Given the description of an element on the screen output the (x, y) to click on. 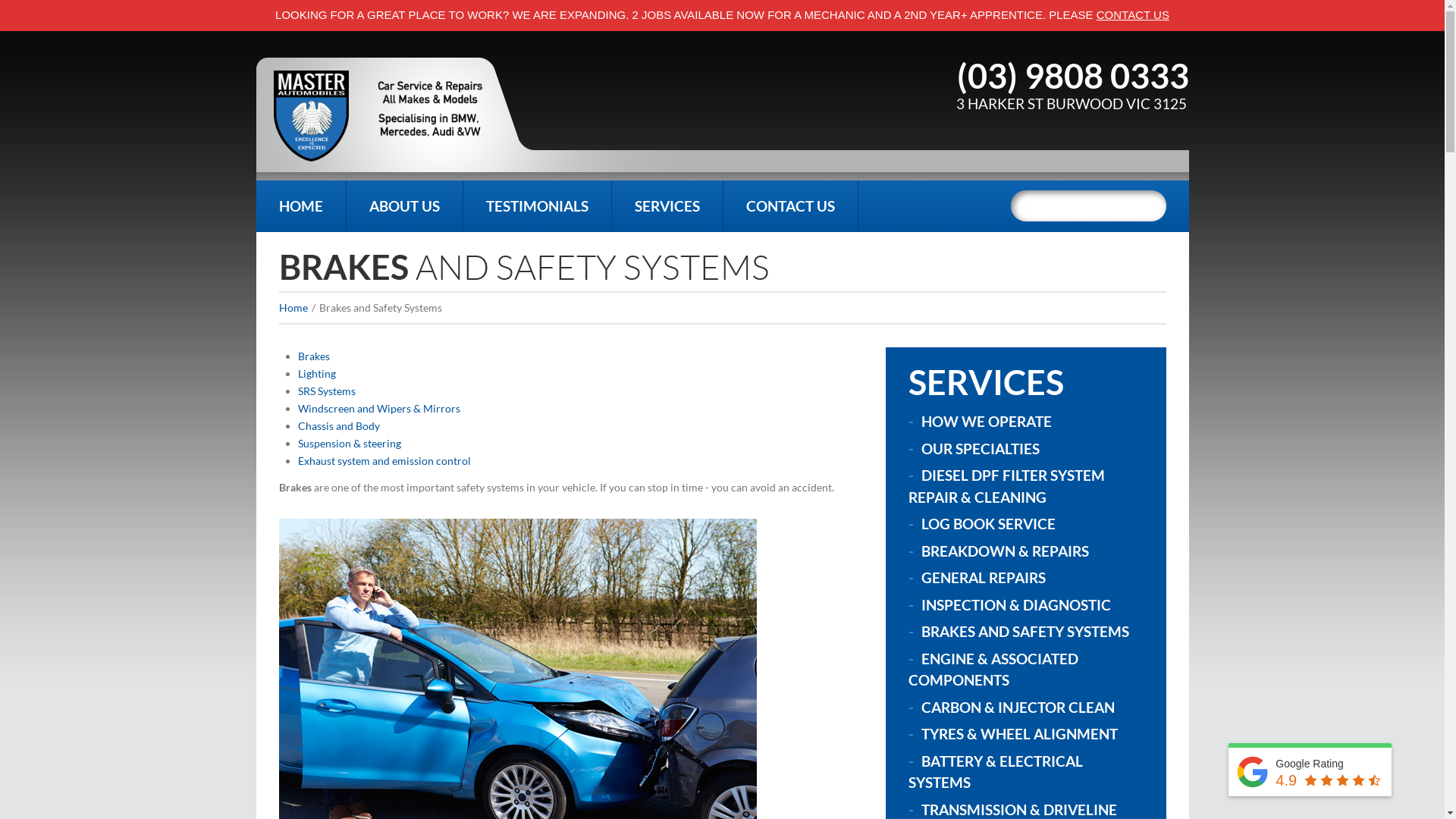
INSPECTION & DIAGNOSTIC Element type: text (1015, 604)
GENERAL REPAIRS Element type: text (982, 577)
Home Element type: text (293, 307)
ABOUT US Element type: text (403, 206)
Lighting Element type: text (316, 373)
Exhaust system and emission control Element type: text (383, 460)
CONTACT US Element type: text (790, 206)
HOW WE OPERATE Element type: text (985, 420)
CONTACT US Element type: text (1132, 14)
SERVICES Element type: text (666, 206)
BRAKES AND SAFETY SYSTEMS Element type: text (1024, 631)
TRANSMISSION & DRIVELINE Element type: text (1018, 809)
LOG BOOK SERVICE Element type: text (987, 523)
BATTERY & ELECTRICAL SYSTEMS Element type: text (995, 771)
Suspension & steering Element type: text (348, 442)
HOME Element type: text (300, 206)
Chassis and Body Element type: text (338, 425)
Windscreen and Wipers & Mirrors Element type: text (378, 407)
OUR SPECIALTIES Element type: text (979, 448)
Brakes Element type: text (313, 355)
SRS Systems Element type: text (325, 390)
TESTIMONIALS Element type: text (536, 206)
BREAKDOWN & REPAIRS Element type: text (1004, 549)
DIESEL DPF FILTER SYSTEM REPAIR & CLEANING Element type: text (1006, 485)
ENGINE & ASSOCIATED COMPONENTS Element type: text (993, 668)
CARBON & INJECTOR CLEAN Element type: text (1016, 706)
TYRES & WHEEL ALIGNMENT Element type: text (1018, 733)
